Given the description of an element on the screen output the (x, y) to click on. 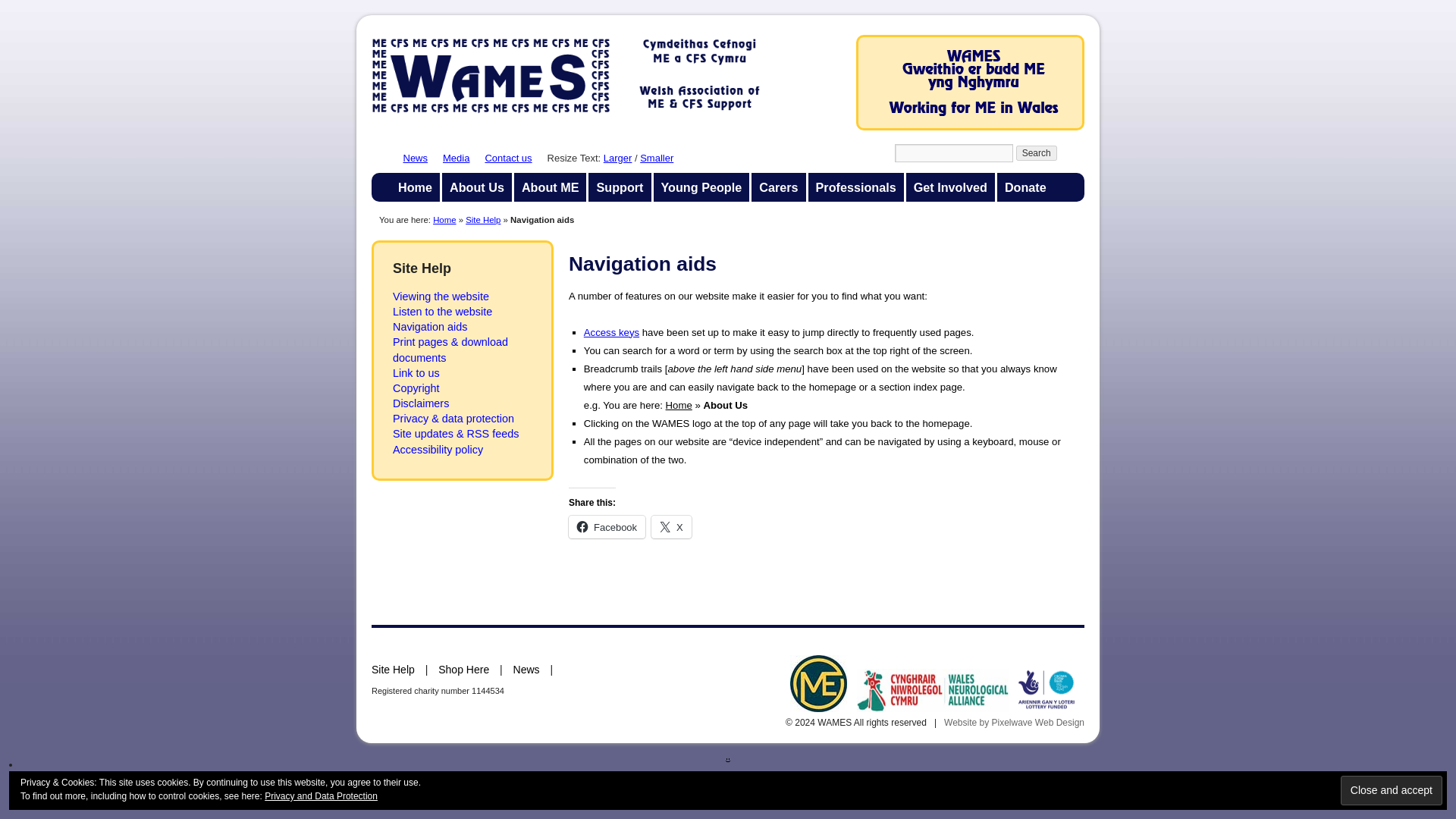
Media (455, 157)
Professionals (856, 186)
Smaller (656, 157)
Media (455, 157)
X (670, 526)
Search (1036, 152)
Larger (617, 157)
About Us (477, 186)
Shop Here (463, 669)
Link to us (416, 372)
Site Help (393, 669)
Viewing the website (441, 296)
Contact Us (507, 157)
Website by Pixelwave Web Design (1013, 722)
Access keys (611, 332)
